Given the description of an element on the screen output the (x, y) to click on. 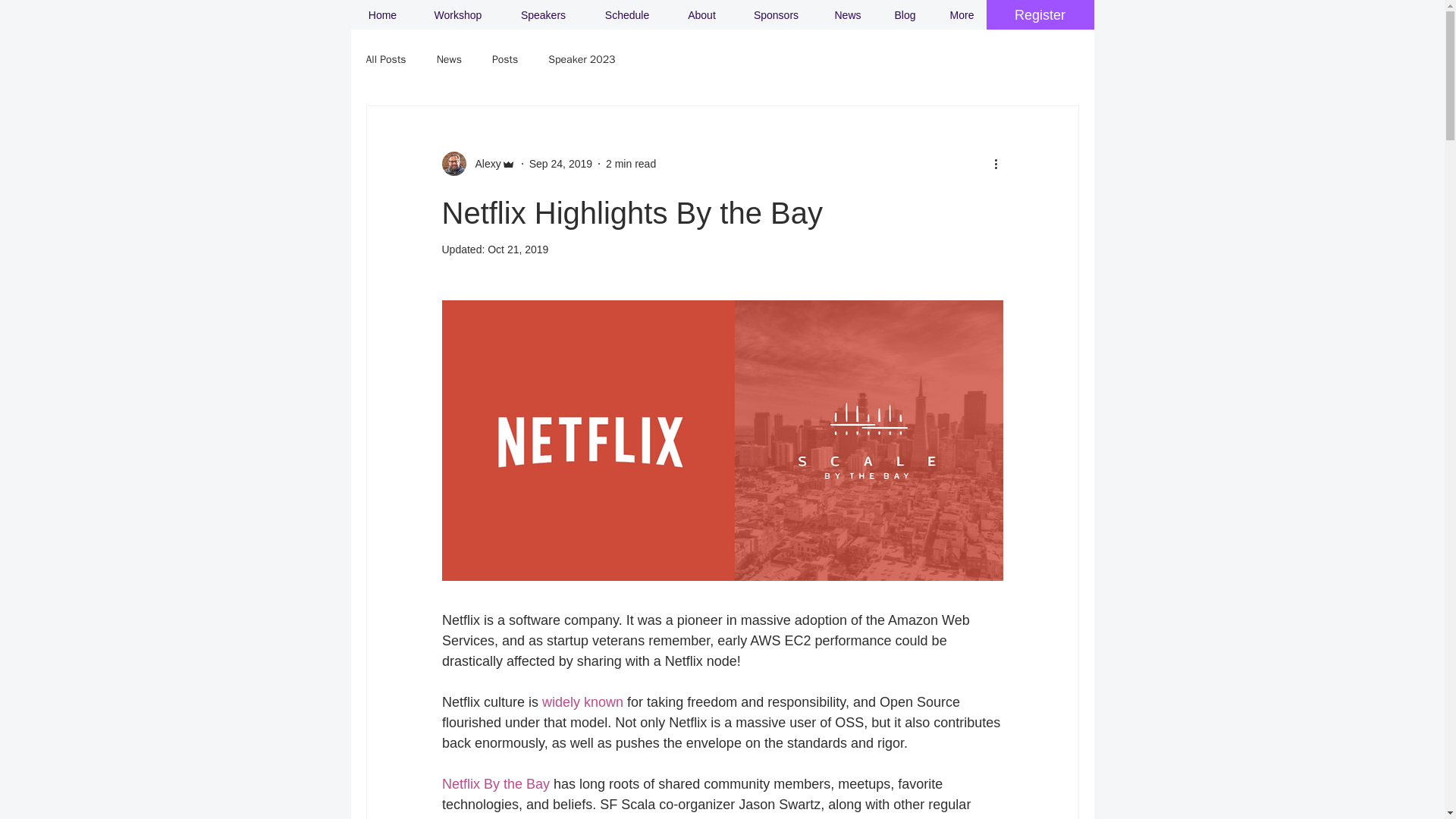
Home (381, 15)
Oct 21, 2019 (517, 249)
Register (1039, 15)
Speakers (543, 15)
Blog (905, 15)
Posts (505, 59)
Sponsors (774, 15)
About (700, 15)
Alexy (482, 163)
Speaker 2023 (581, 59)
All Posts (385, 59)
Sep 24, 2019 (560, 163)
News (846, 15)
Schedule (627, 15)
